Given the description of an element on the screen output the (x, y) to click on. 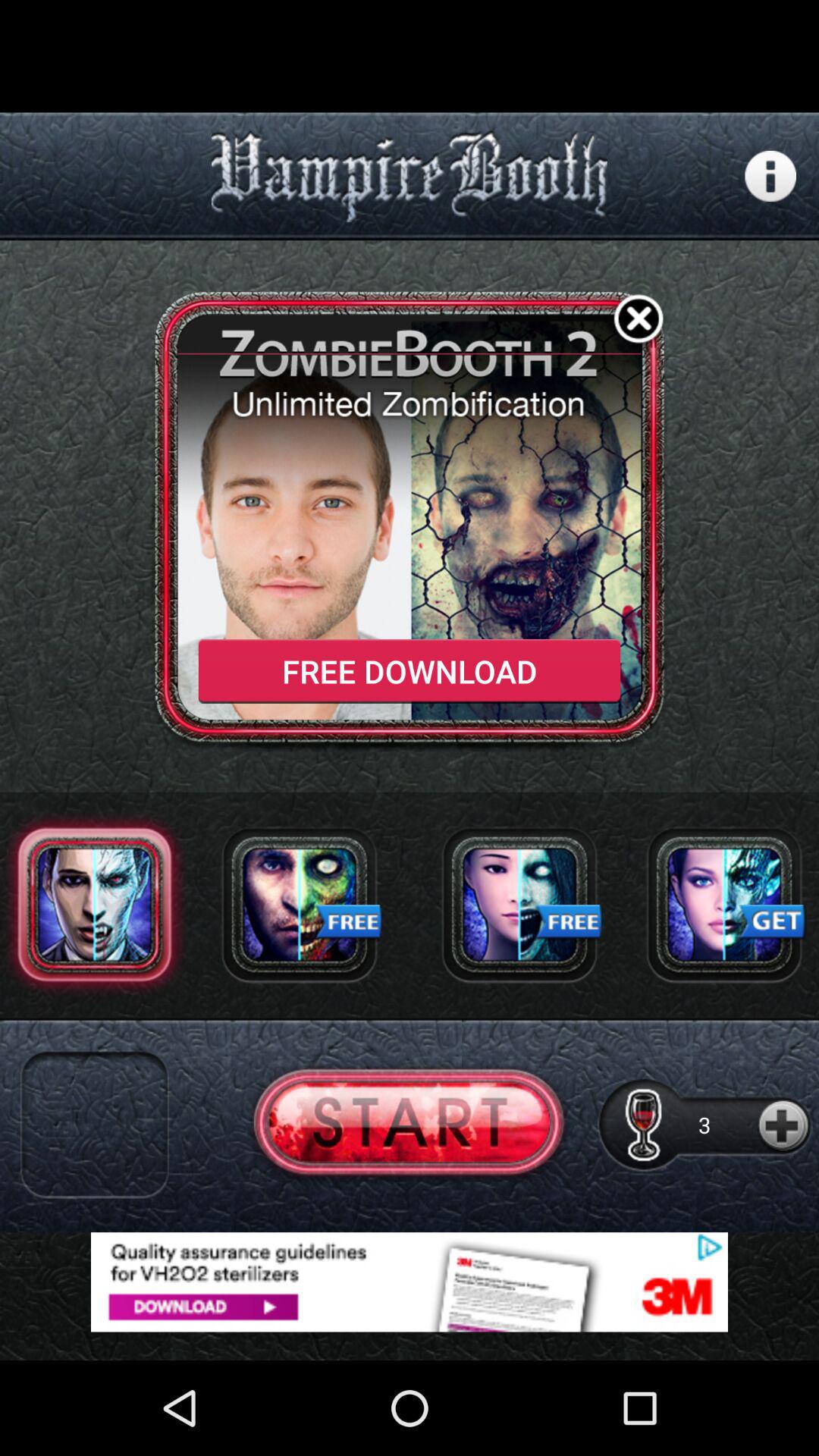
advertisement bar (409, 1282)
